Given the description of an element on the screen output the (x, y) to click on. 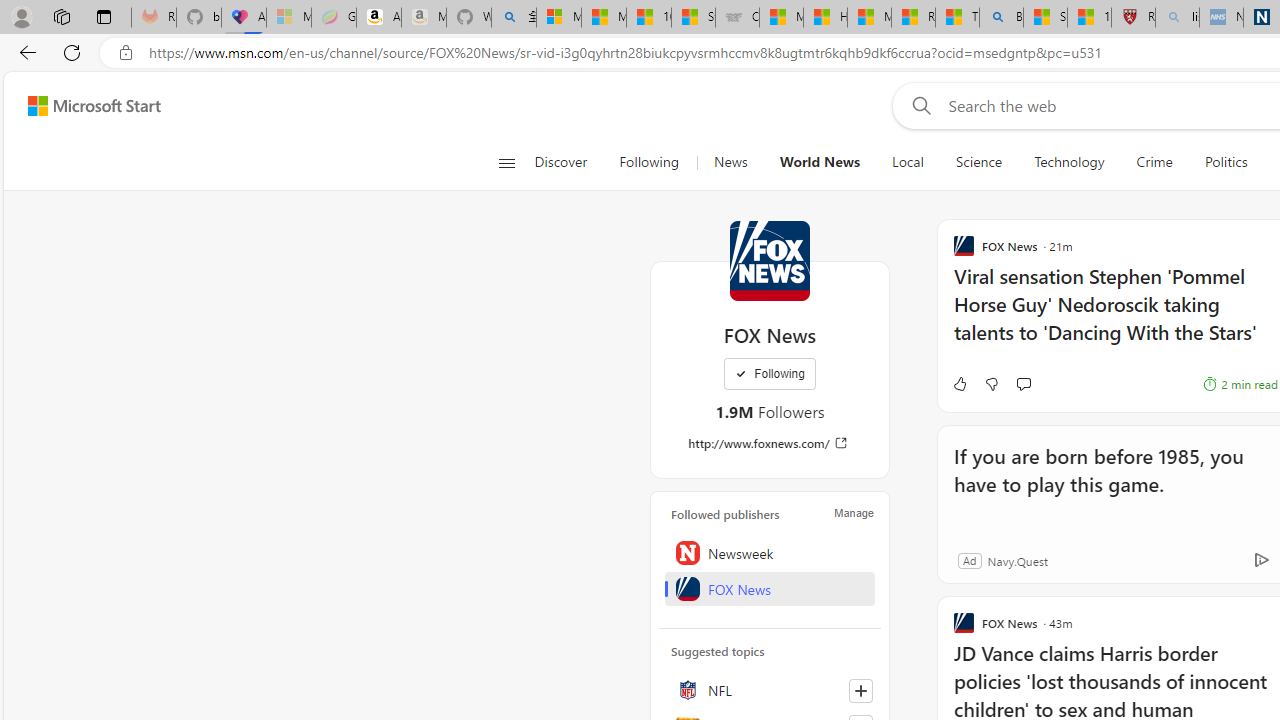
Follow this topic (860, 690)
Asthma Inhalers: Names and Types (243, 17)
Follow this topic (860, 690)
How I Got Rid of Microsoft Edge's Unnecessary Features (825, 17)
Like (766, 384)
Navy.Quest (1017, 560)
FOX News (769, 260)
